Given the description of an element on the screen output the (x, y) to click on. 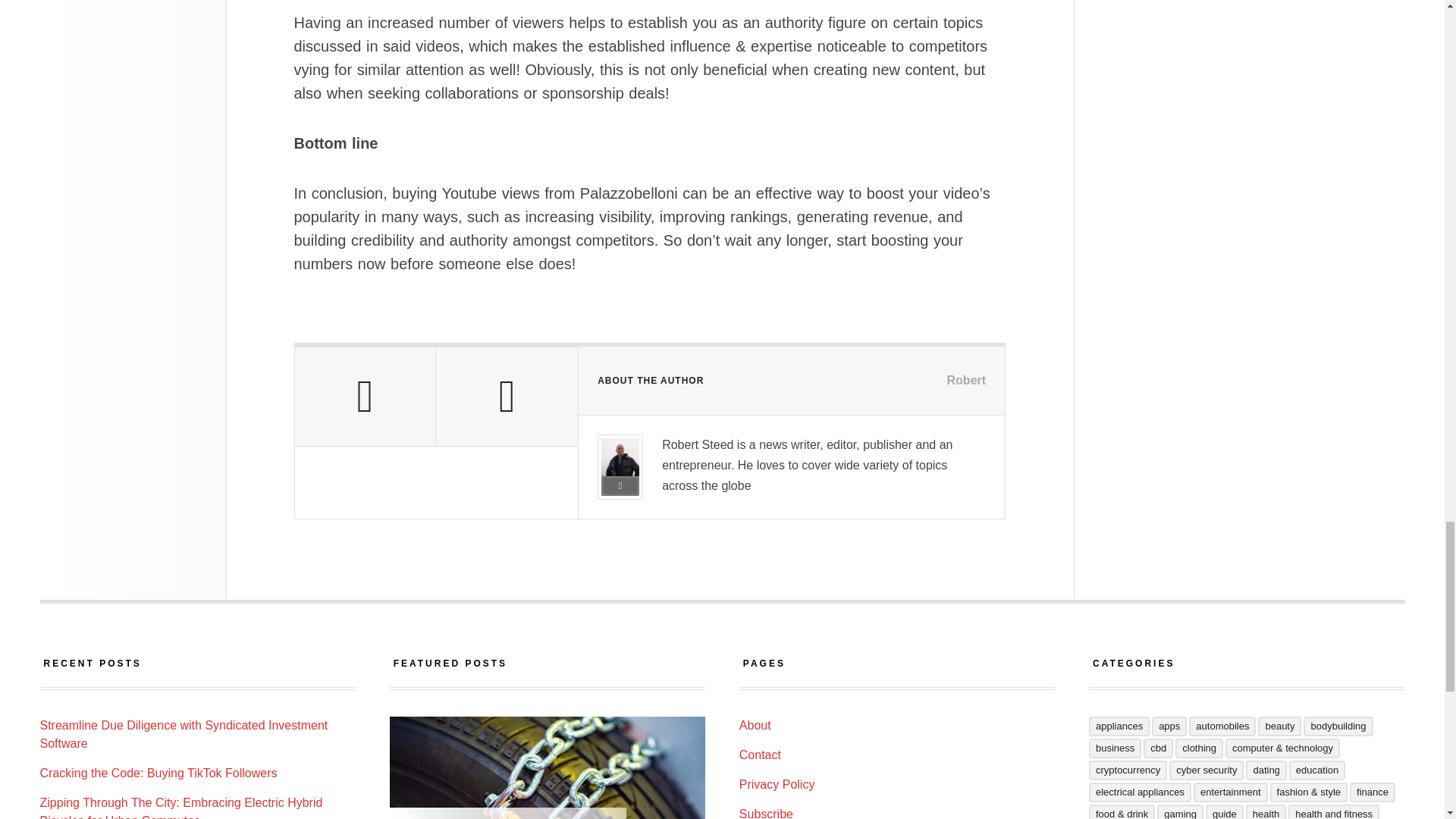
Author's Link (620, 485)
Next Post (506, 396)
Previous Post (364, 396)
